Given the description of an element on the screen output the (x, y) to click on. 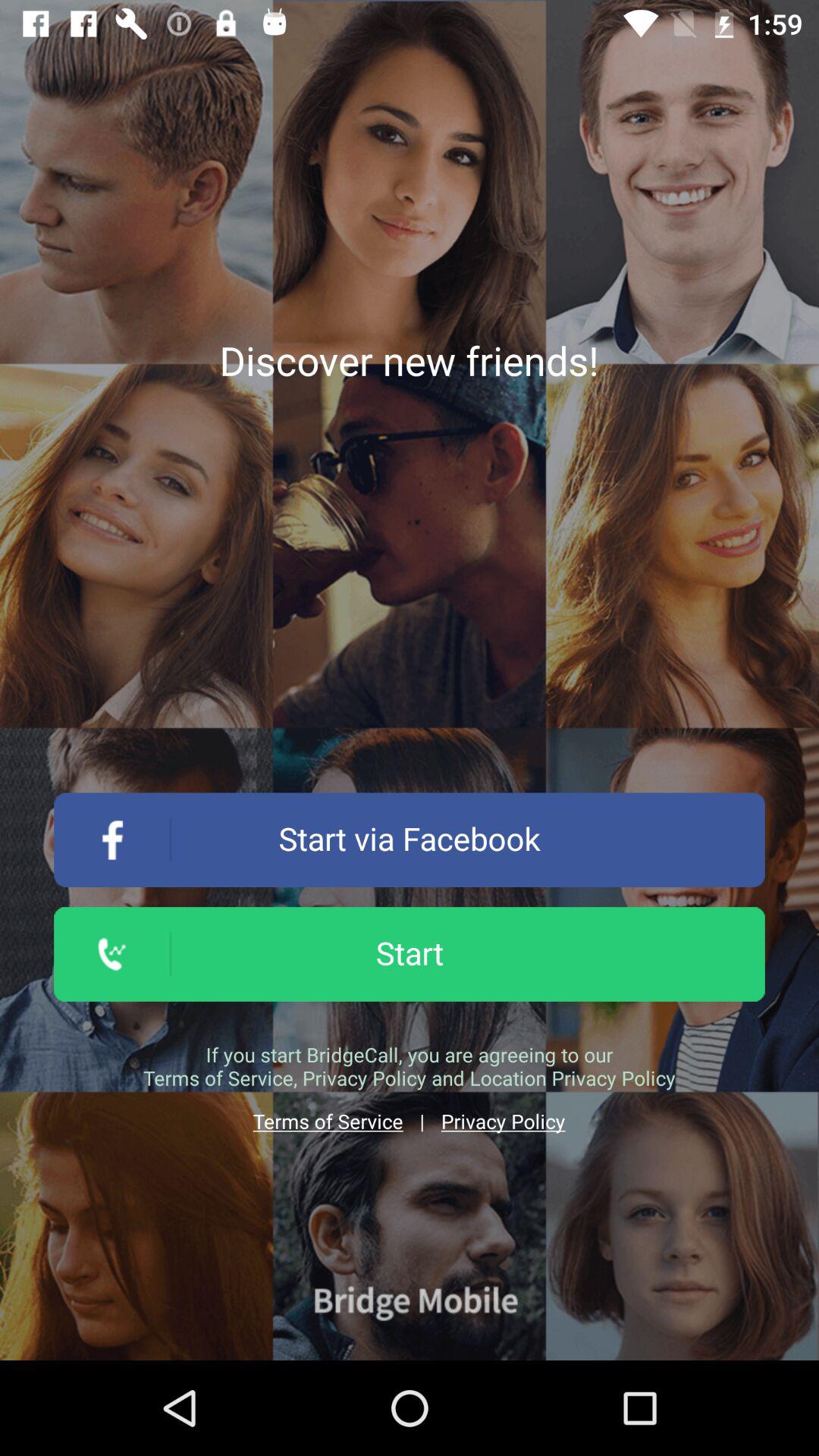
launch app above the start via facebook (408, 359)
